Given the description of an element on the screen output the (x, y) to click on. 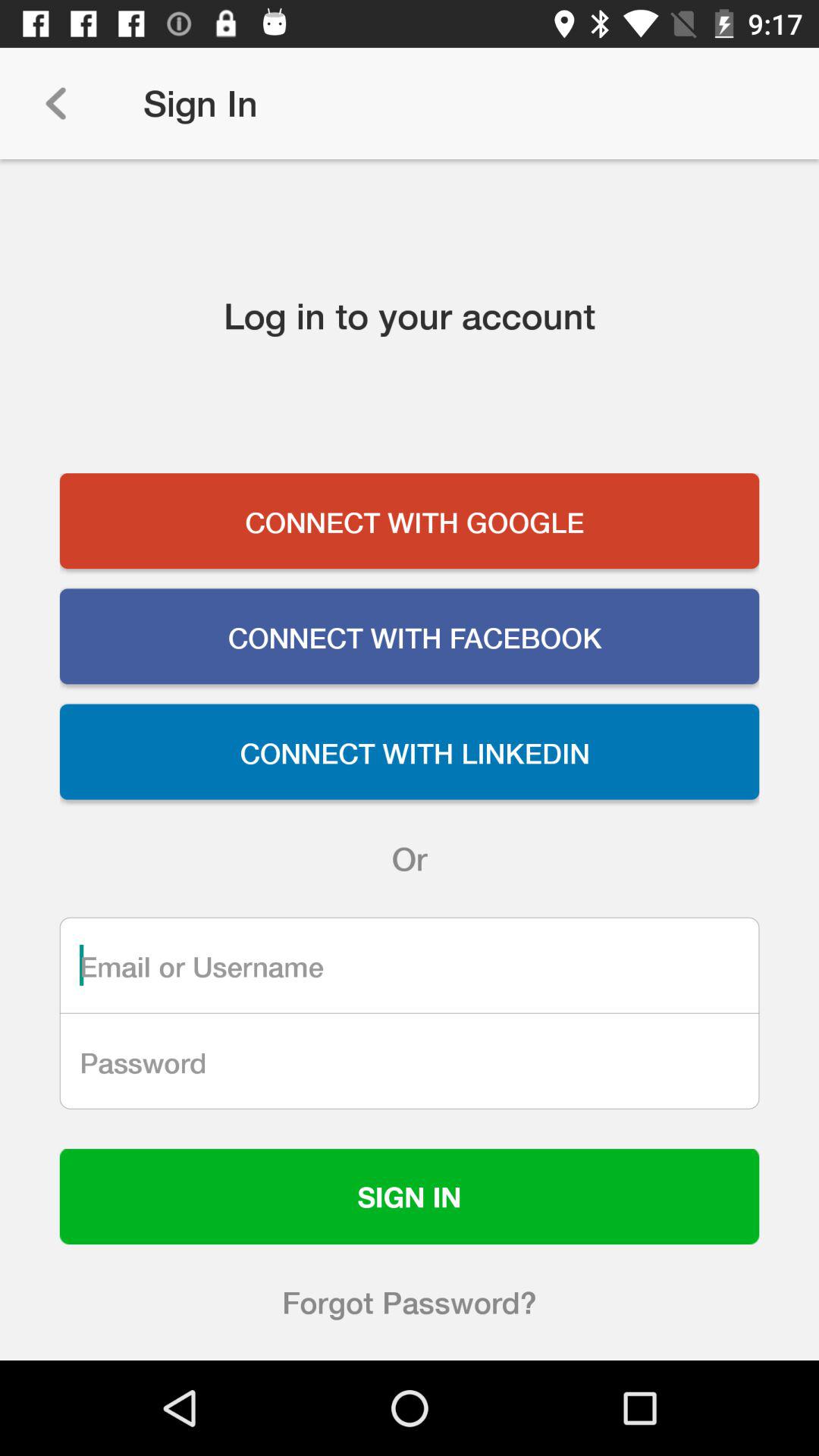
open the item below sign in item (409, 1302)
